Given the description of an element on the screen output the (x, y) to click on. 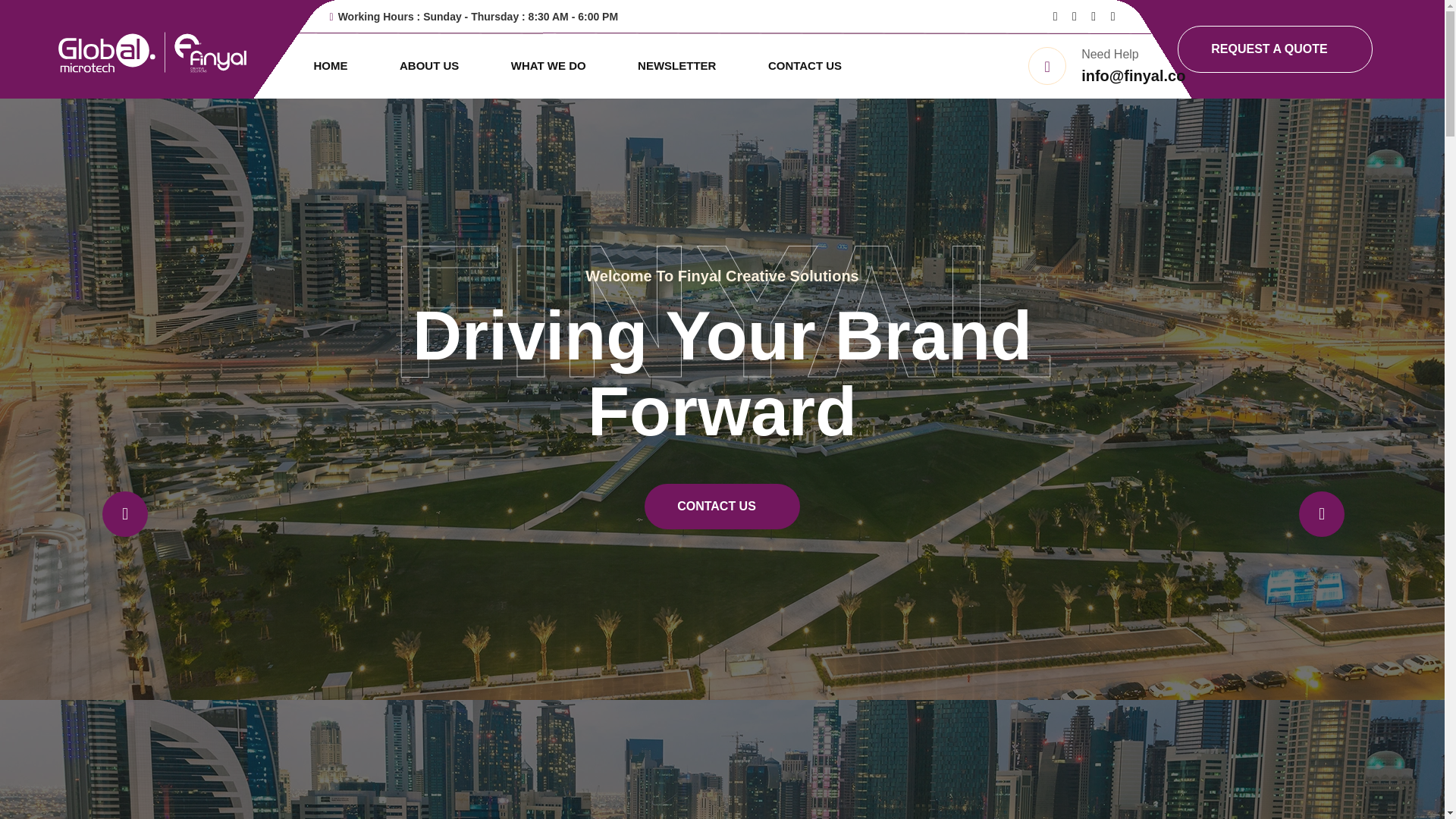
ABOUT US (429, 65)
REQUEST A QUOTE (1275, 48)
WHAT WE DO (548, 65)
CONTACT US (722, 506)
NEWSLETTER (675, 65)
Working Hours : Sunday - Thursday : 8:30 AM - 6:00 PM (473, 16)
HOME (330, 65)
CONTACT US (805, 65)
